Given the description of an element on the screen output the (x, y) to click on. 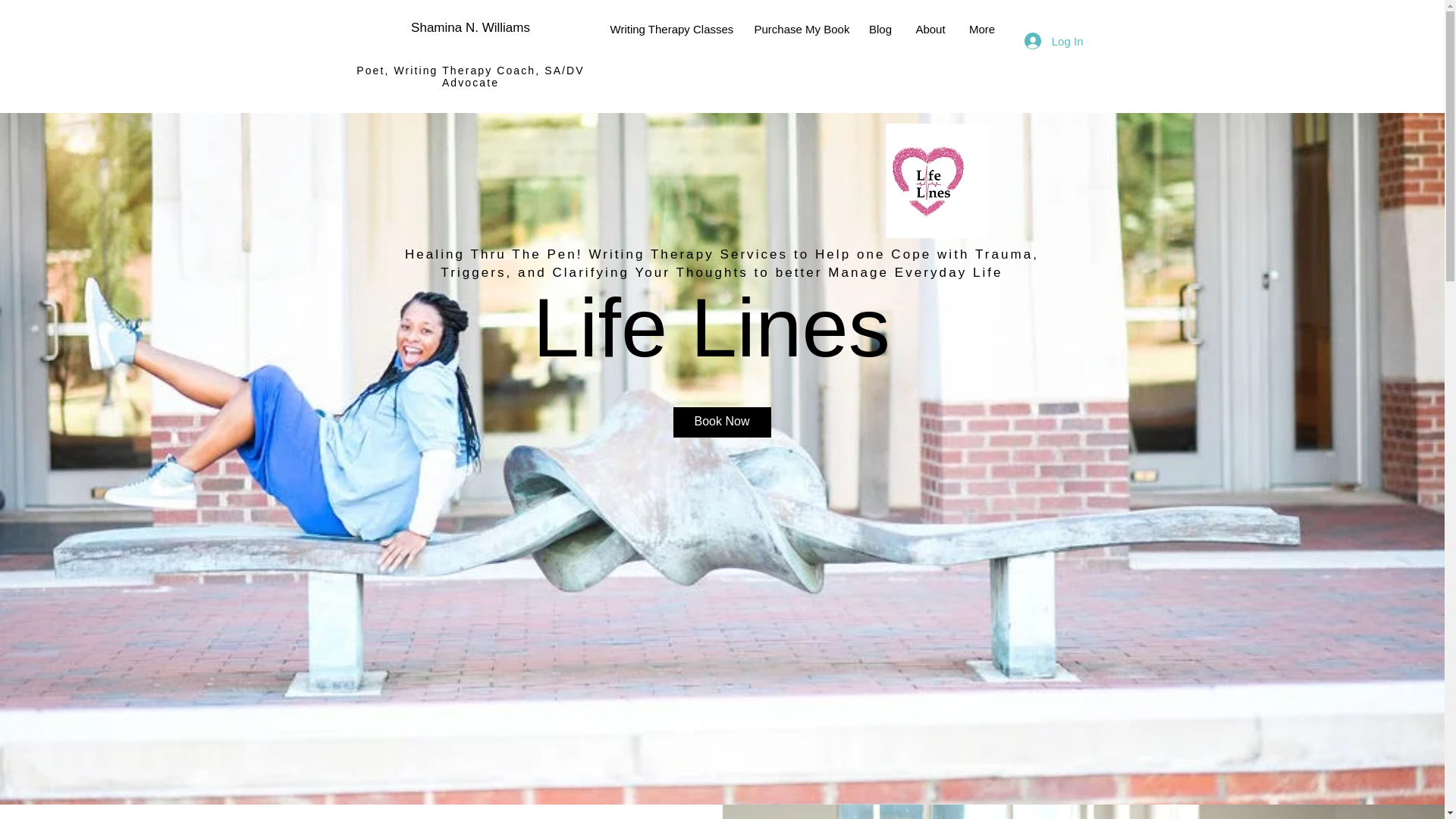
Purchase My Book (799, 29)
Book Now (721, 422)
Shamina N. Williams (469, 27)
About (931, 29)
Blog (879, 29)
Writing Therapy Classes (670, 29)
Log In (1053, 40)
